Given the description of an element on the screen output the (x, y) to click on. 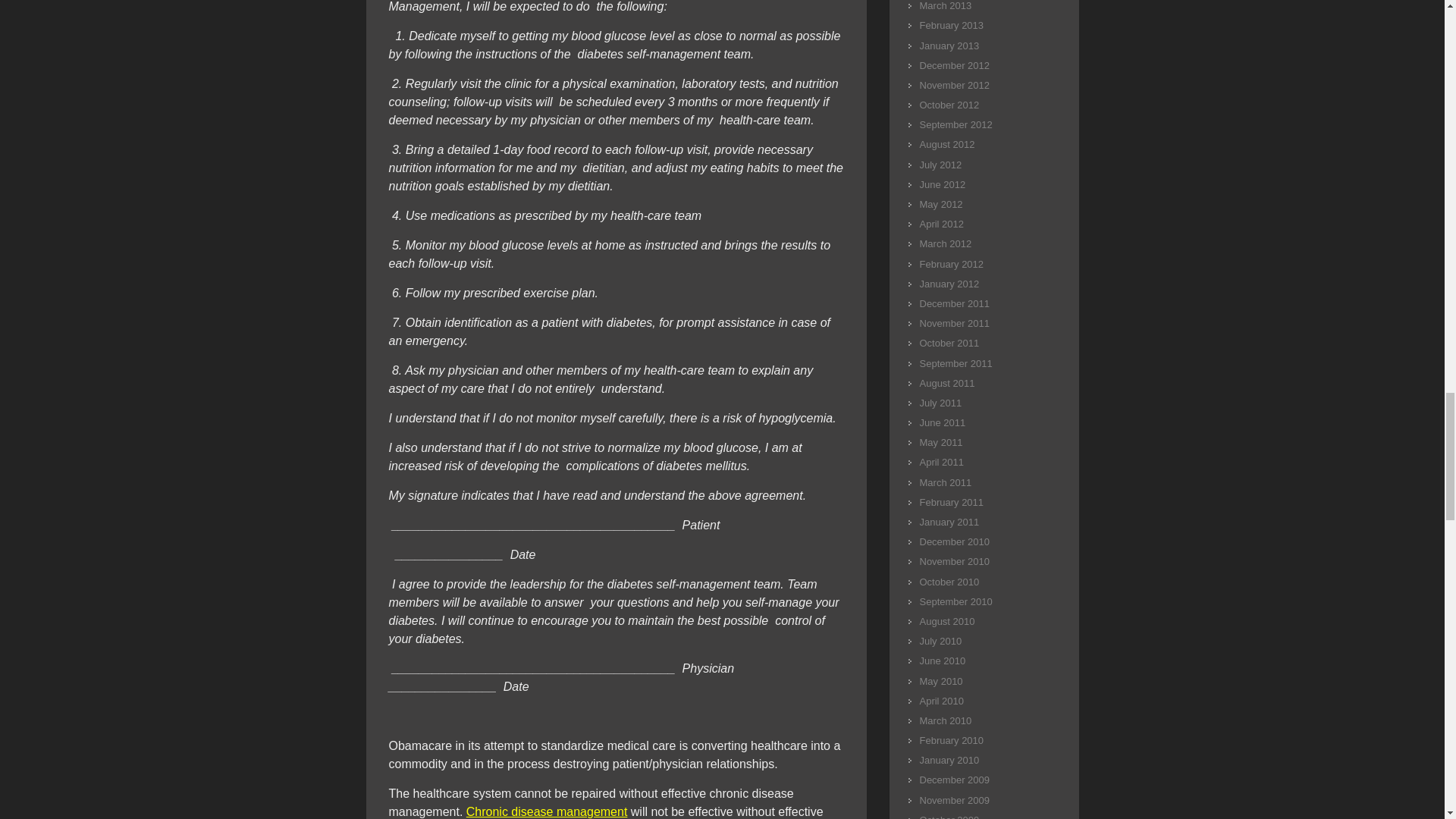
Chronic disease management (546, 811)
